Given the description of an element on the screen output the (x, y) to click on. 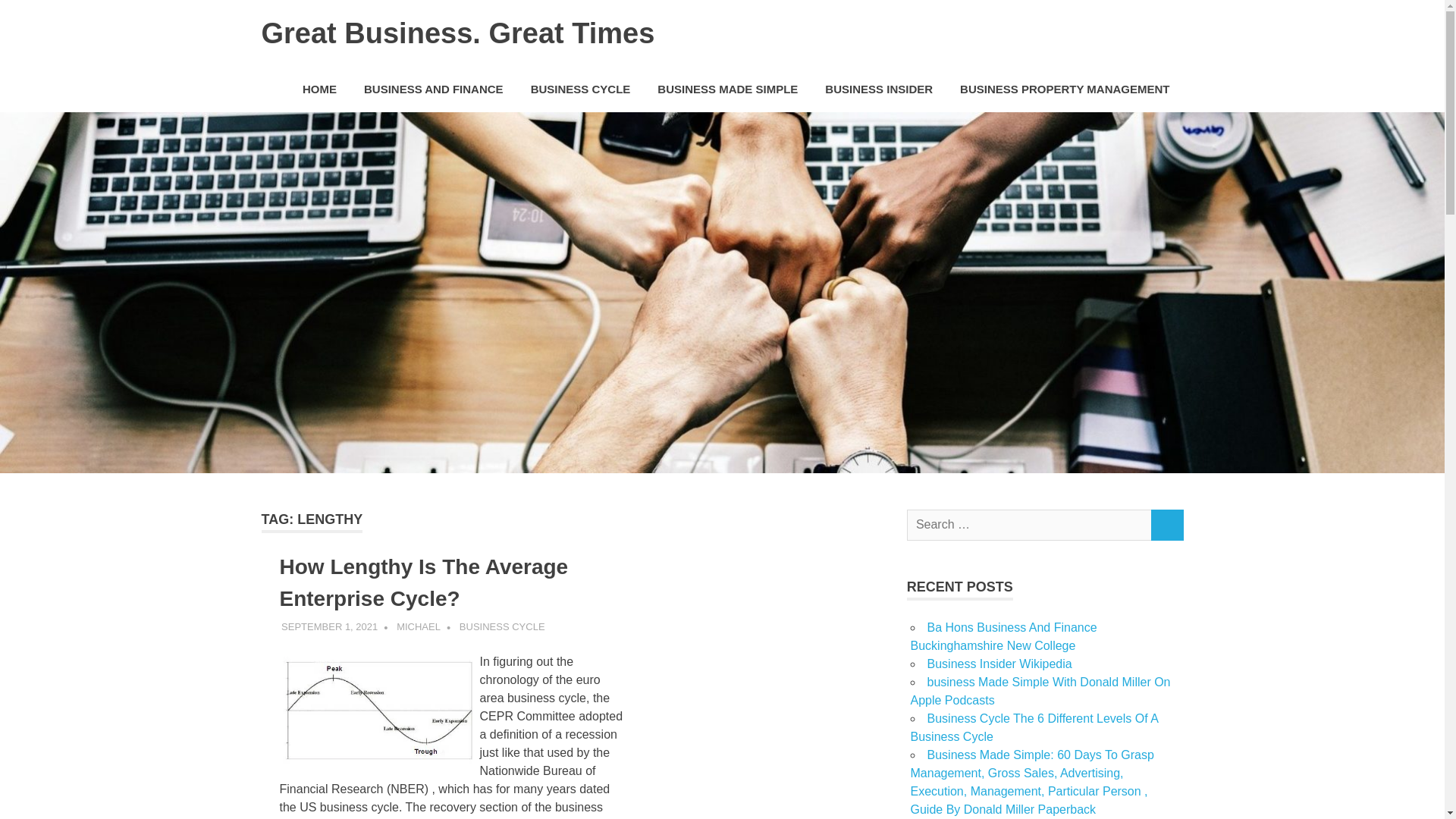
BUSINESS CYCLE (502, 626)
BUSINESS CYCLE (580, 89)
BUSINESS PROPERTY MANAGEMENT (1064, 89)
Business Cycle The 6 Different Levels Of A Business Cycle (1033, 726)
Great Business. Great Times (456, 33)
BUSINESS MADE SIMPLE (726, 89)
SEPTEMBER 1, 2021 (329, 626)
BUSINESS AND FINANCE (433, 89)
1:13 am (329, 626)
Search for: (1029, 524)
SEARCH (1166, 524)
HOME (319, 89)
View all posts by Michael (418, 626)
Ba Hons Business And Finance Buckinghamshire New College (1003, 635)
